Given the description of an element on the screen output the (x, y) to click on. 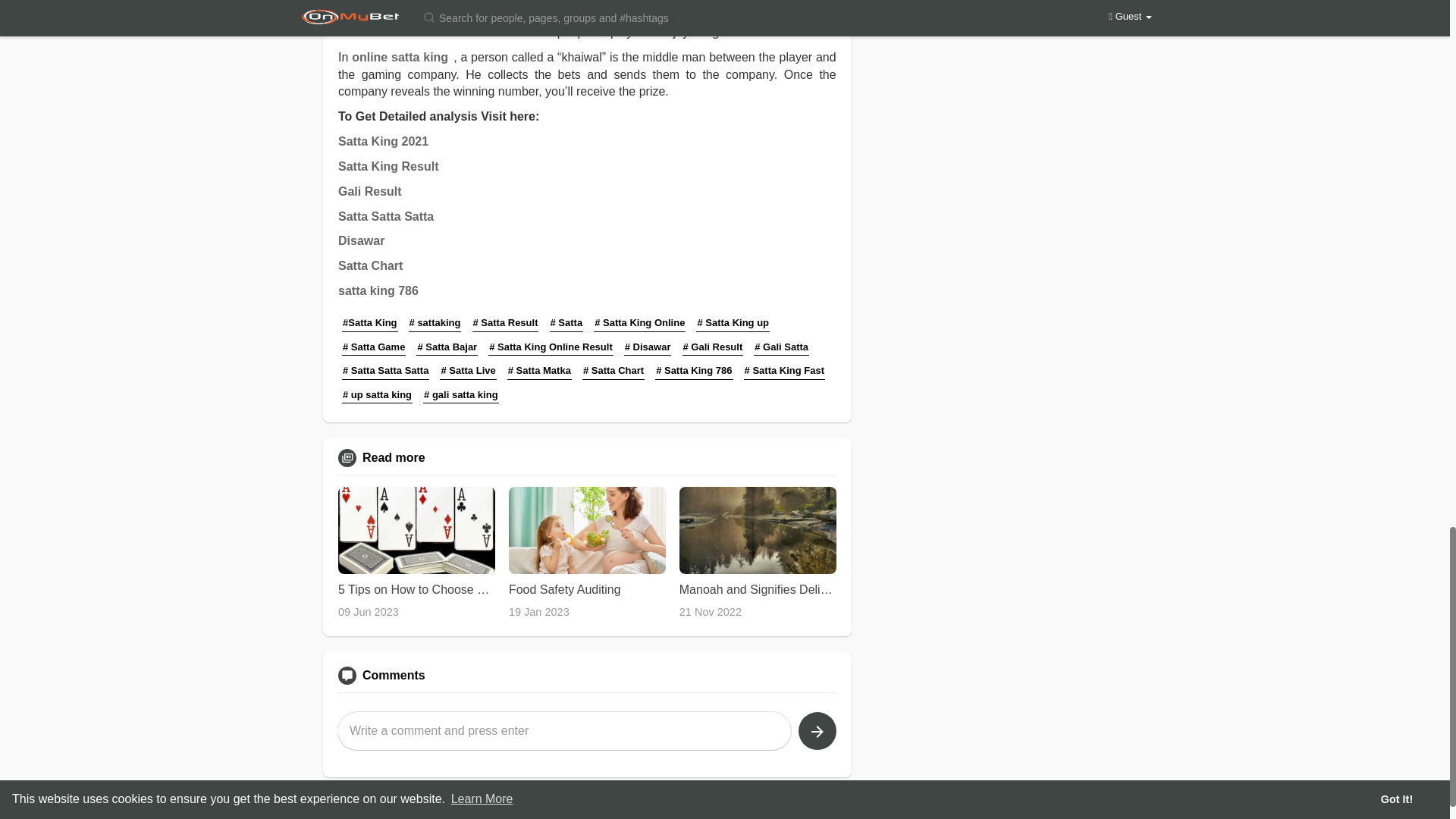
Gali Result (372, 191)
Satta King Result (390, 165)
online satta king (402, 56)
Disawar (363, 240)
Satta Satta Satta (388, 215)
Satta King 786 (566, 14)
Satta King 2021 (385, 141)
